Given the description of an element on the screen output the (x, y) to click on. 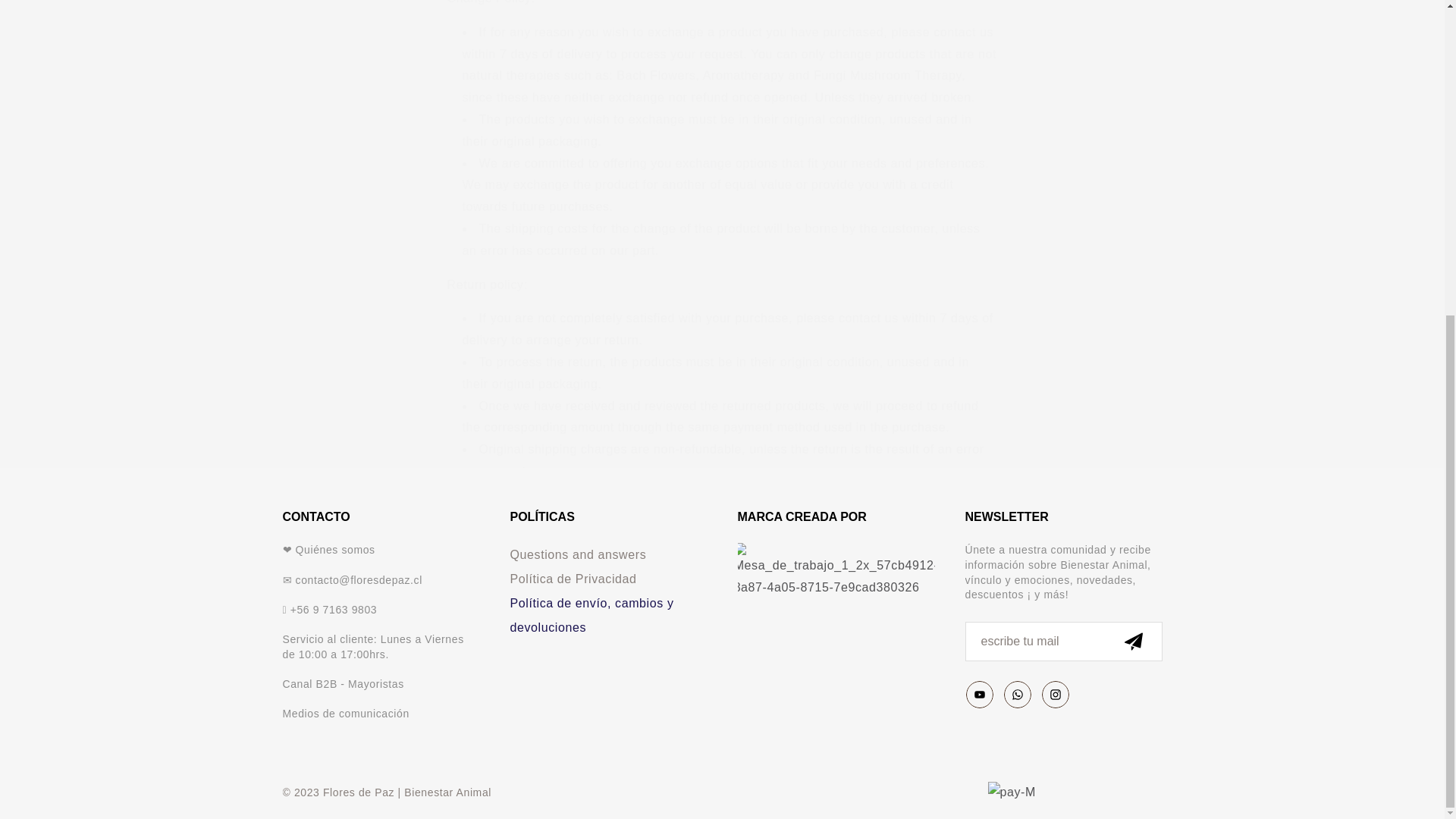
Questions and answers (607, 554)
Questions and answers (607, 554)
Canal B2B - Mayoristas (342, 684)
